Given the description of an element on the screen output the (x, y) to click on. 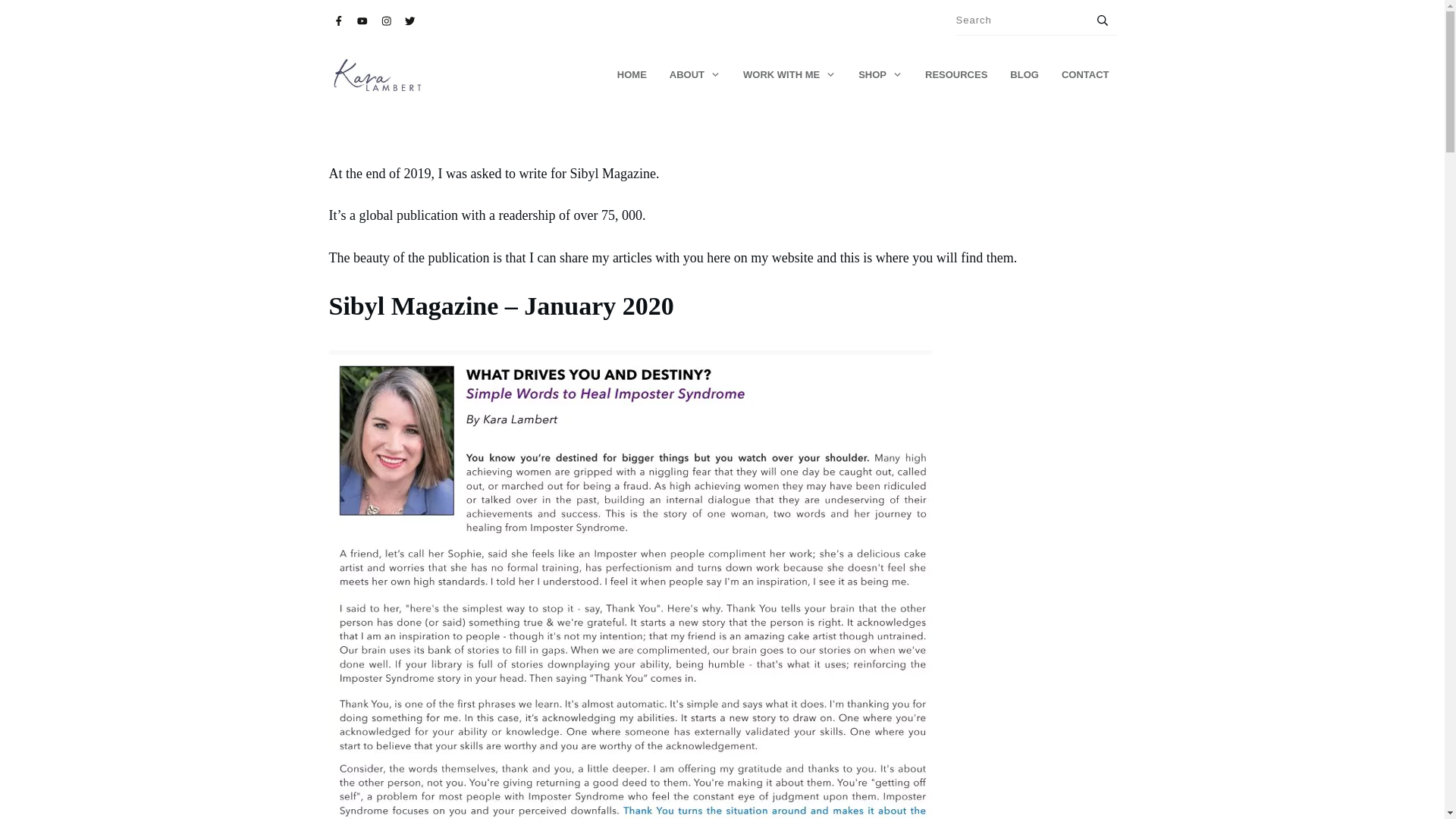
BLOG (1024, 75)
CONTACT (1085, 75)
HOME (631, 75)
SHOP (880, 75)
RESOURCES (955, 75)
WORK WITH ME (788, 75)
ABOUT (694, 75)
